Given the description of an element on the screen output the (x, y) to click on. 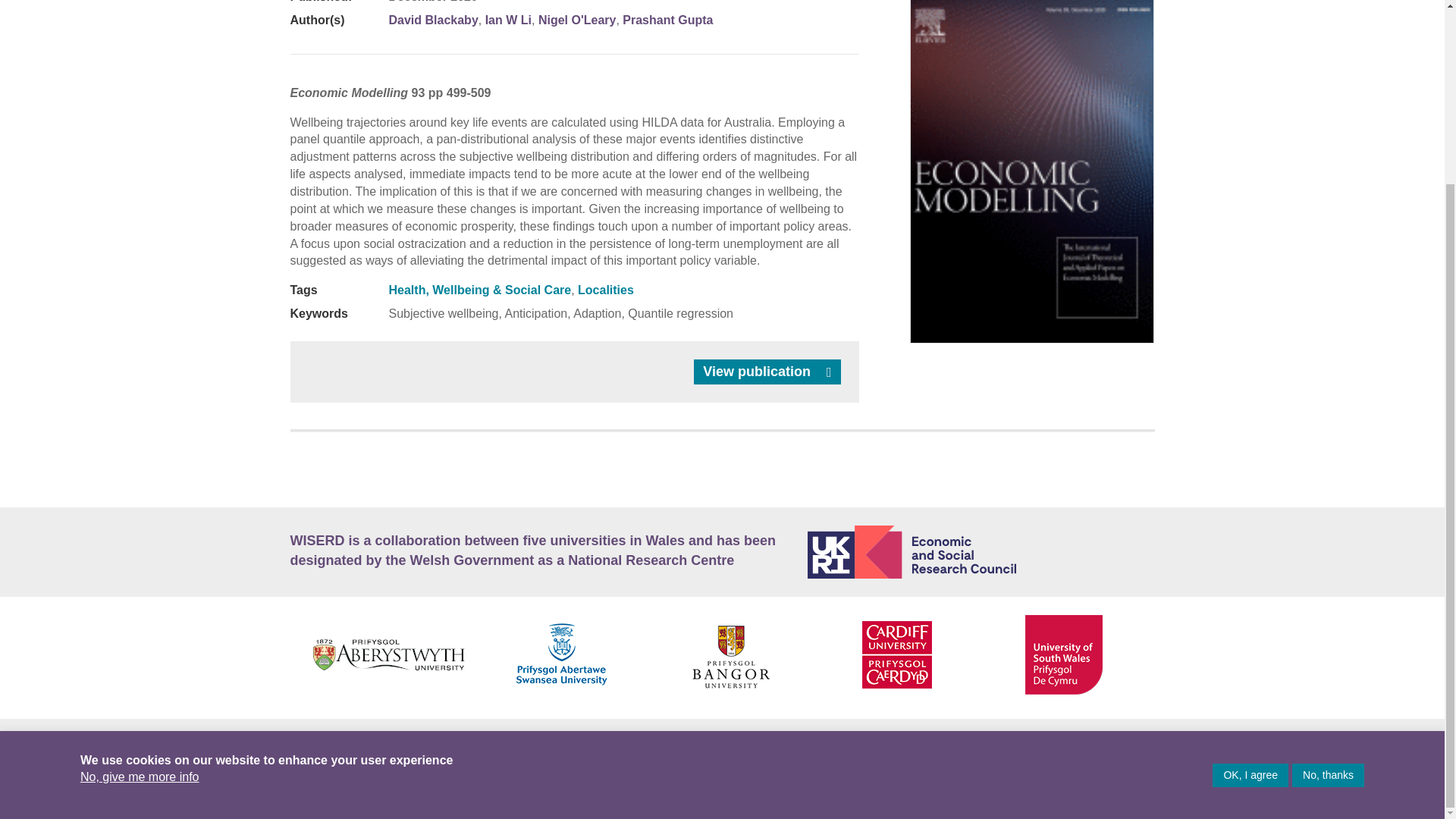
Facebook (1074, 743)
Ian W Li (507, 19)
Career Opportunities (453, 744)
Twitter (1108, 743)
Terms and Conditions (837, 744)
Prashant Gupta (668, 19)
Accessibility (327, 744)
Economic and Social Research Council (981, 551)
Facebook (318, 779)
ESRC (981, 551)
Language Policy (588, 744)
Localities (605, 289)
David Blackaby (432, 19)
Privacy Policy (704, 744)
Intranet (507, 779)
